Given the description of an element on the screen output the (x, y) to click on. 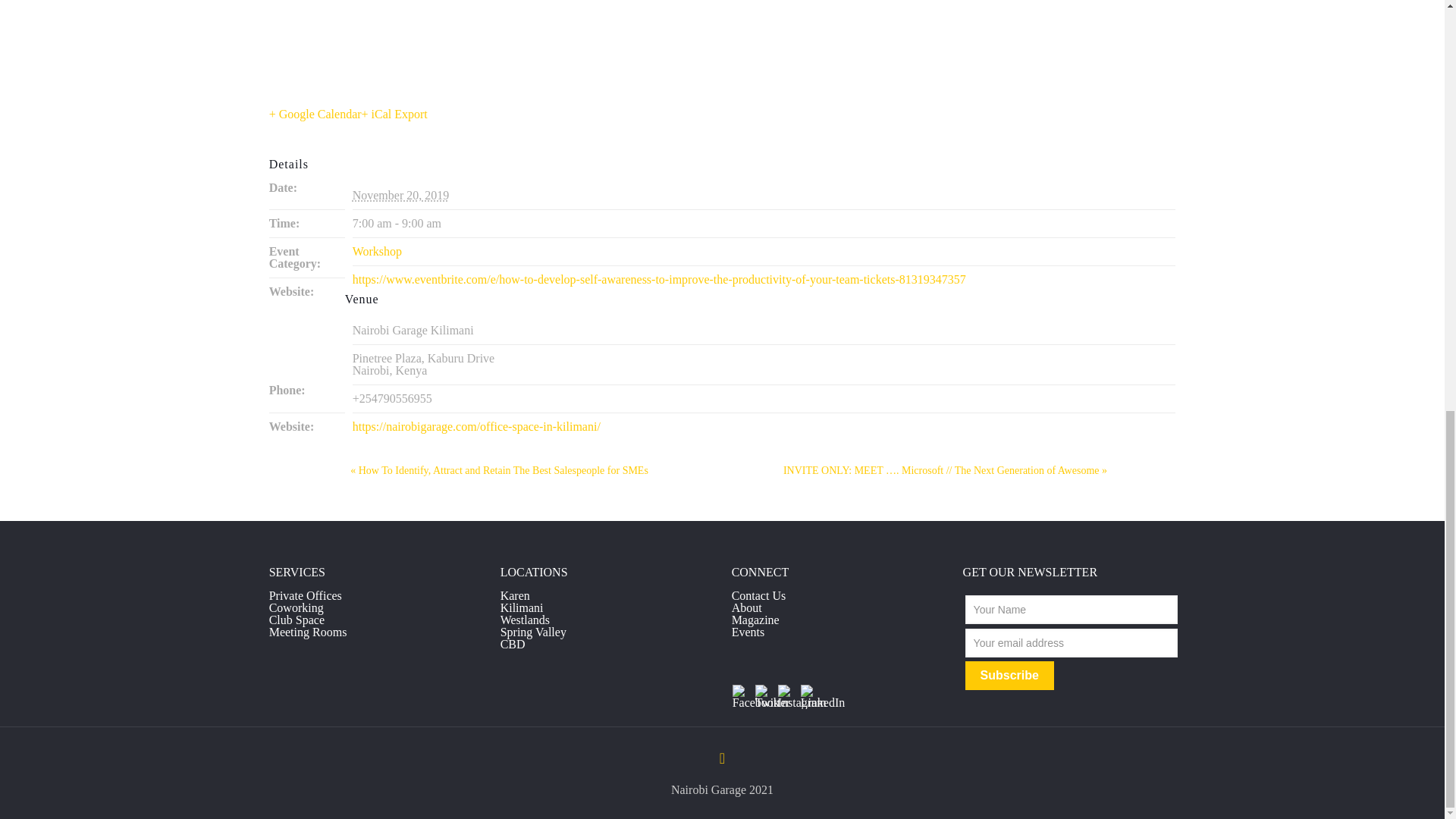
Download .ics file (394, 113)
Subscribe (1009, 675)
2019-11-20 (764, 223)
2019-11-20 (400, 195)
Add to Google Calendar (315, 113)
Twitter (764, 693)
Facebook (741, 693)
Workshop (376, 250)
LinkedIn (809, 693)
Instagram (786, 693)
